Given the description of an element on the screen output the (x, y) to click on. 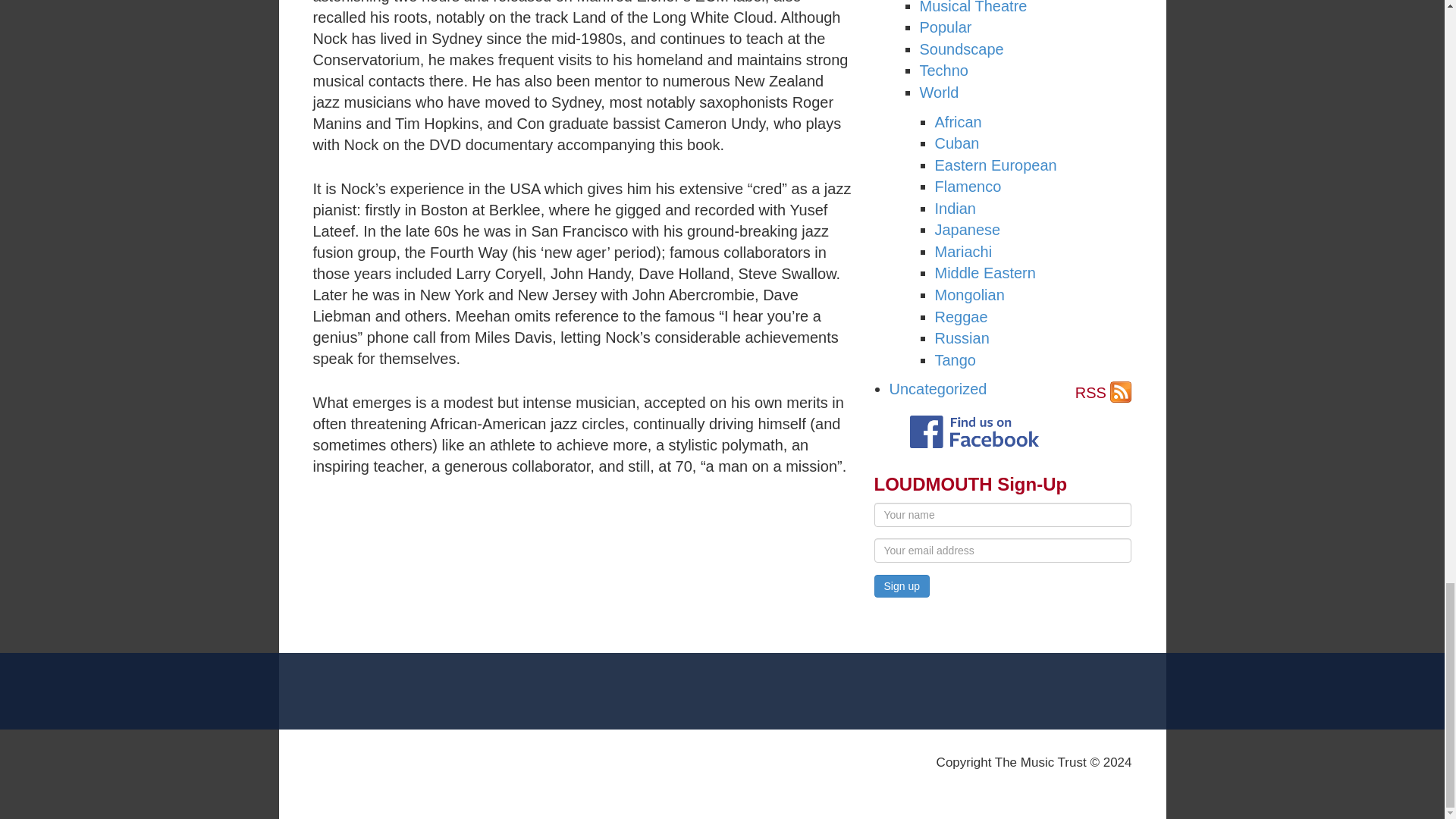
Sign up (900, 585)
